Given the description of an element on the screen output the (x, y) to click on. 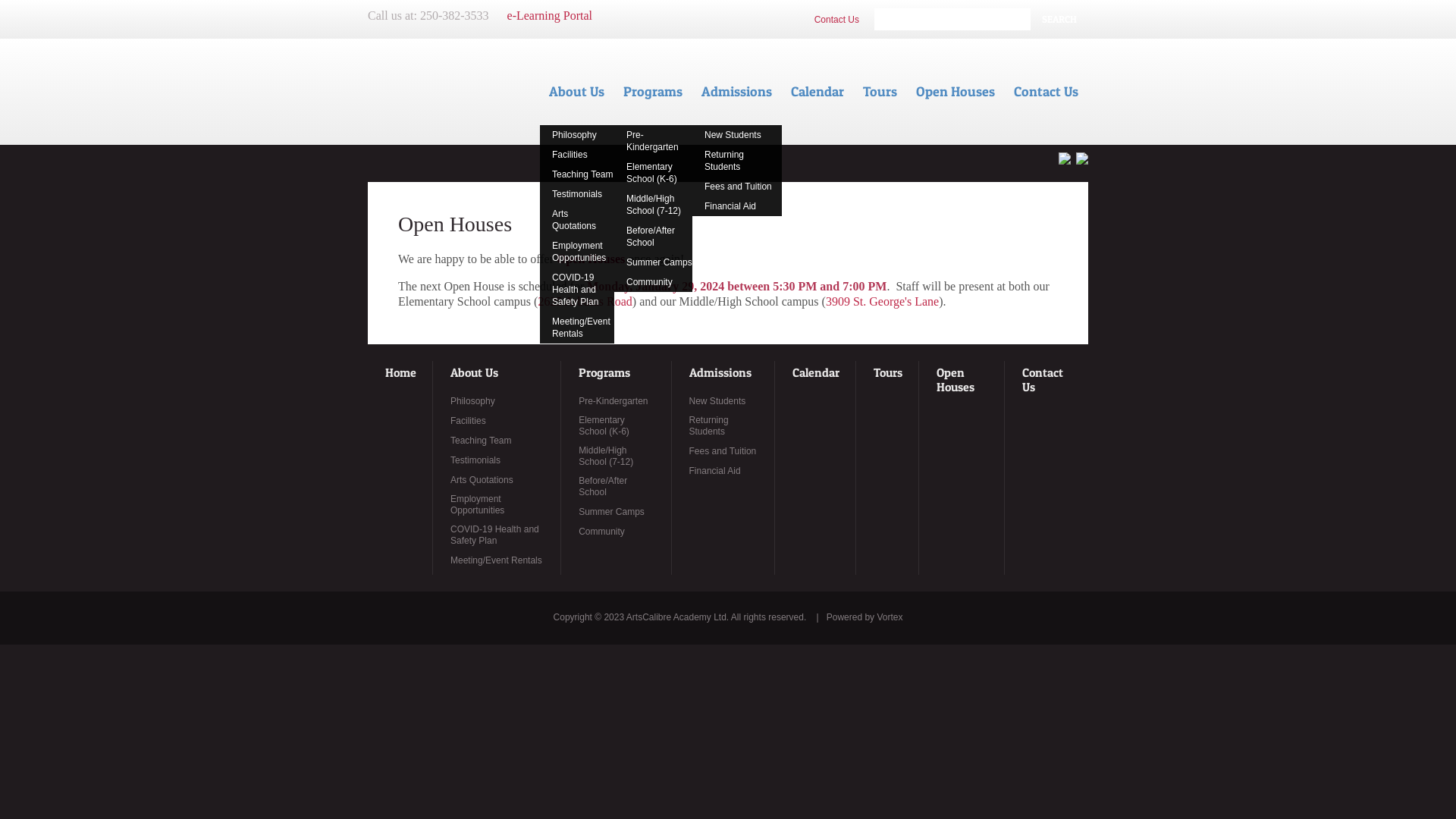
3909 St. George's Lane Element type: text (881, 300)
Before/After School Element type: text (616, 486)
Programs Element type: text (604, 372)
2625 Arbutus Road Element type: text (584, 300)
Like Us on Facebook Element type: hover (1064, 160)
Elementary School (K-6) Element type: text (653, 172)
Fees and Tuition Element type: text (722, 451)
Middle/High School (7-12) Element type: text (616, 456)
Open Houses Element type: text (962, 380)
Facilities Element type: text (468, 420)
Contact Us Element type: text (1046, 380)
Arts Quotations Element type: text (481, 480)
Open Houses Element type: text (955, 91)
Pre-Kindergarten Element type: text (653, 140)
Philosophy Element type: text (576, 134)
Tours Element type: text (879, 91)
Community Element type: text (653, 281)
Powered by Vortex Element type: text (864, 616)
ArtsCalibre Academy Element type: hover (469, 91)
Elementary School (K-6) Element type: text (616, 425)
Meeting/Event Rentals Element type: text (576, 327)
Programs Element type: text (653, 91)
Tours Element type: text (887, 372)
SEARCH Element type: text (1059, 19)
Admissions Element type: text (736, 91)
COVID-19 Health and Safety Plan Element type: text (497, 535)
Contact Us Element type: text (1046, 91)
Summer Camps Element type: text (653, 262)
Financial Aid Element type: text (714, 470)
Before/After School Element type: text (653, 236)
COVID-19 Health and Safety Plan Element type: text (576, 289)
Pre-Kindergarten Element type: text (612, 401)
Contact Us Element type: text (836, 19)
Teaching Team Element type: text (480, 440)
Testimonials Element type: text (475, 460)
Returning Students Element type: text (736, 160)
Returning Students Element type: text (723, 425)
Middle/High School (7-12) Element type: text (653, 204)
Summer Camps Element type: text (611, 511)
Calendar Element type: text (817, 91)
Philosophy Element type: text (472, 401)
Testimonials Element type: text (576, 193)
New Students Element type: text (736, 134)
Employment Opportunities Element type: text (497, 504)
New Students Element type: text (717, 401)
Financial Aid Element type: text (736, 206)
Meeting/Event Rentals Element type: text (496, 560)
Employment Opportunities Element type: text (576, 251)
About Us Element type: text (474, 372)
Facilities Element type: text (576, 154)
Arts Quotations Element type: text (576, 219)
Community Element type: text (601, 531)
Follow Us on Twitter Element type: hover (1082, 160)
Admissions Element type: text (720, 372)
Home Element type: text (400, 372)
Calendar Element type: text (815, 372)
Fees and Tuition Element type: text (736, 186)
About Us Element type: text (576, 91)
e-Learning Portal Element type: text (549, 15)
Teaching Team Element type: text (576, 174)
